Given the description of an element on the screen output the (x, y) to click on. 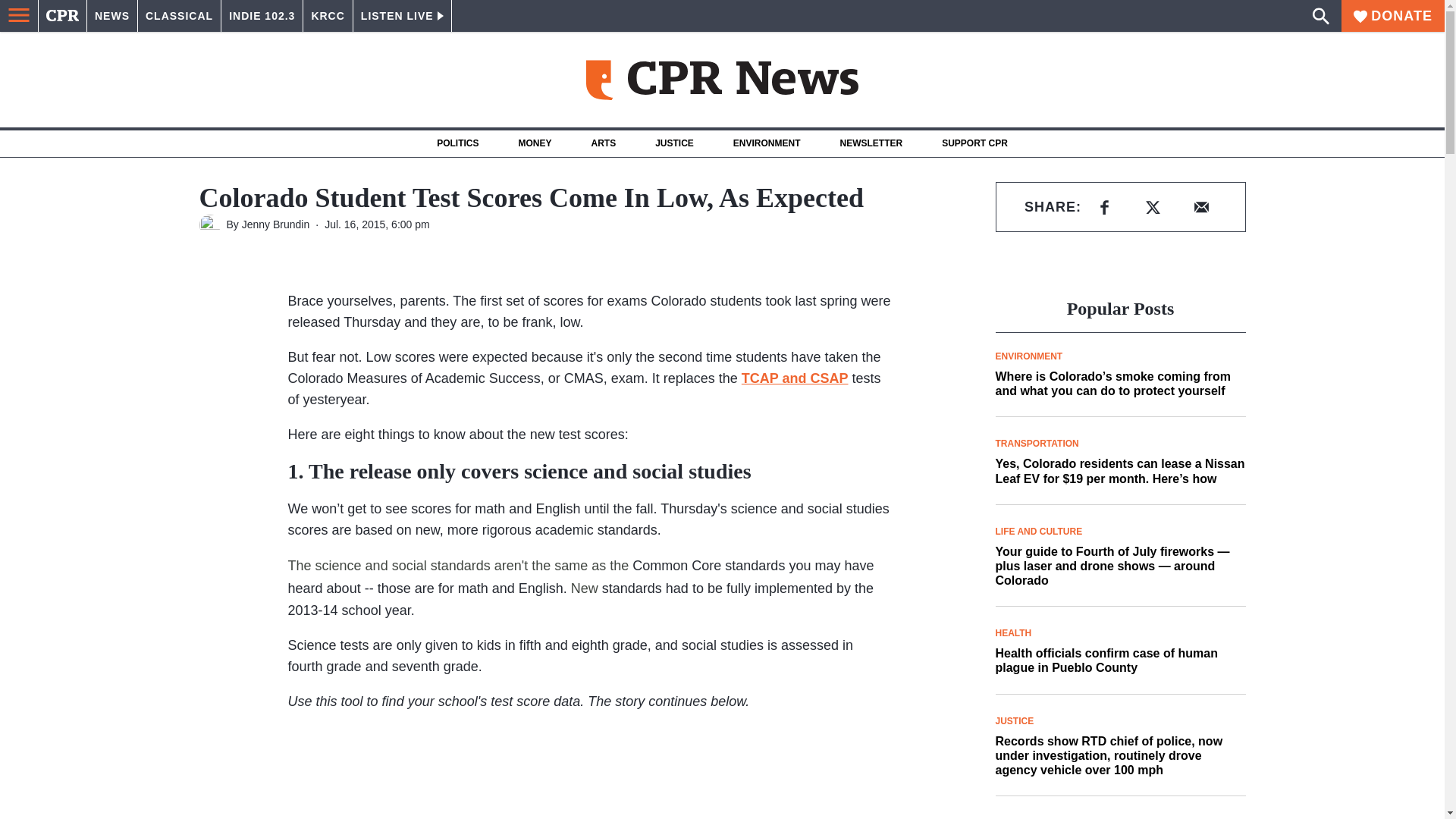
INDIE 102.3 (261, 15)
CLASSICAL (179, 15)
LISTEN LIVE (402, 15)
NEWS (111, 15)
KRCC (327, 15)
